Given the description of an element on the screen output the (x, y) to click on. 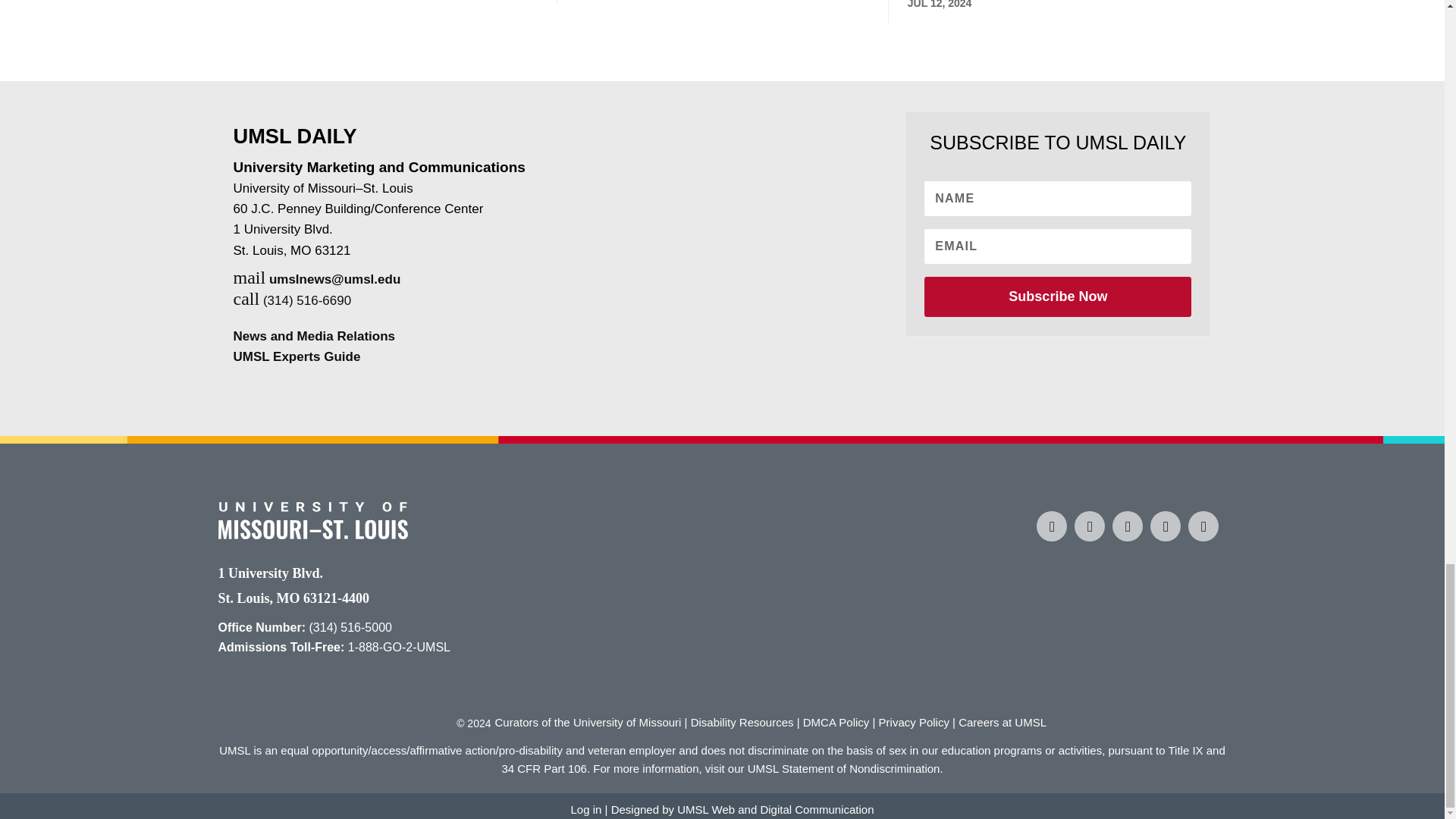
Admissions Toll-Free Number (398, 646)
UMSL News and Media Relations (314, 336)
UMSL Experts Guide (296, 356)
University of Missouri St. Louis (312, 534)
Visit UMSL on LinkedIn (1165, 526)
Visit UMSL on TikTok (1127, 526)
Office Telephone Number (349, 626)
Visit UMSL on Instagram (1089, 526)
Visit UMSL on Facebook (1051, 526)
